Given the description of an element on the screen output the (x, y) to click on. 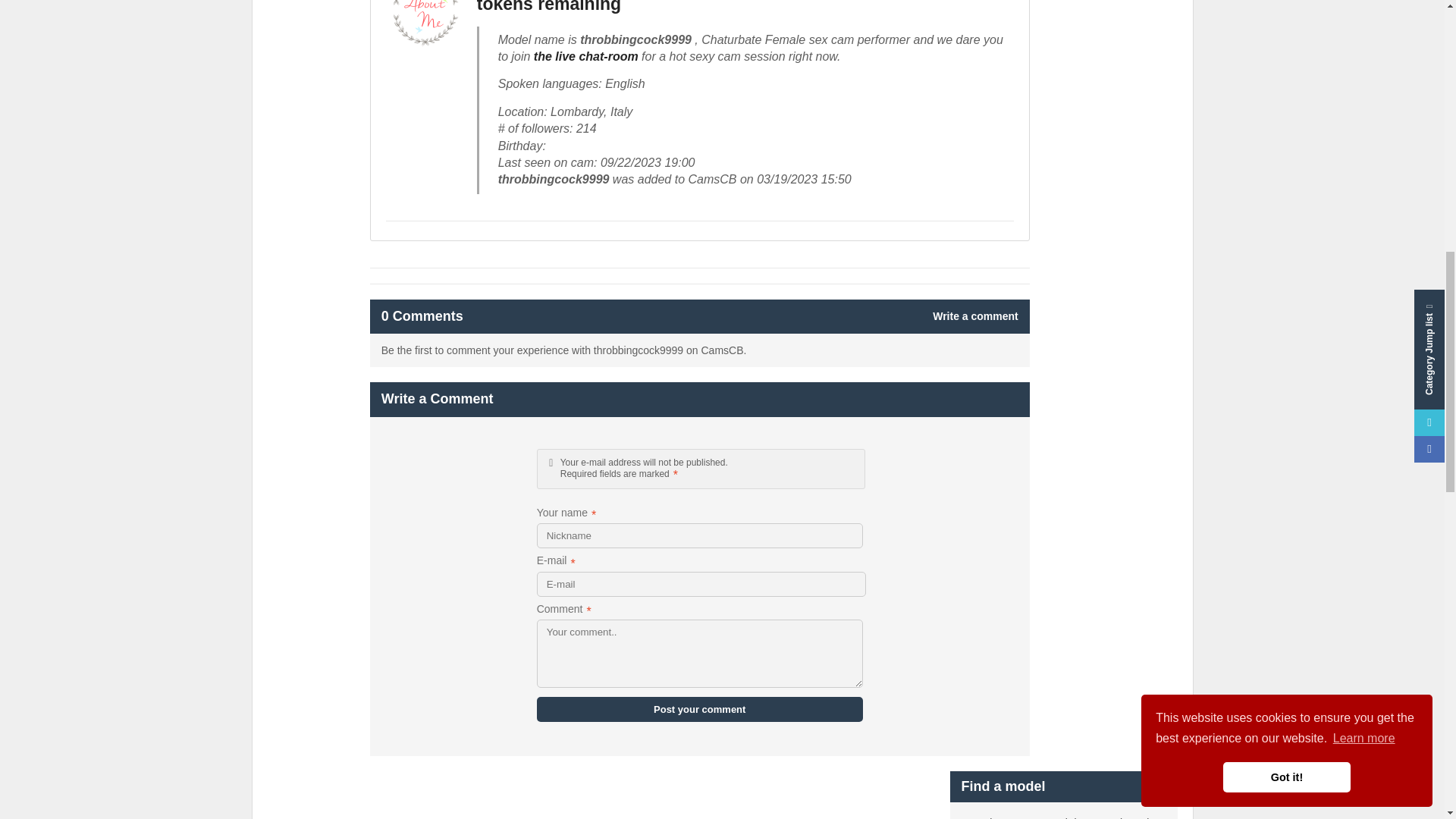
Post your comment (700, 708)
